Given the description of an element on the screen output the (x, y) to click on. 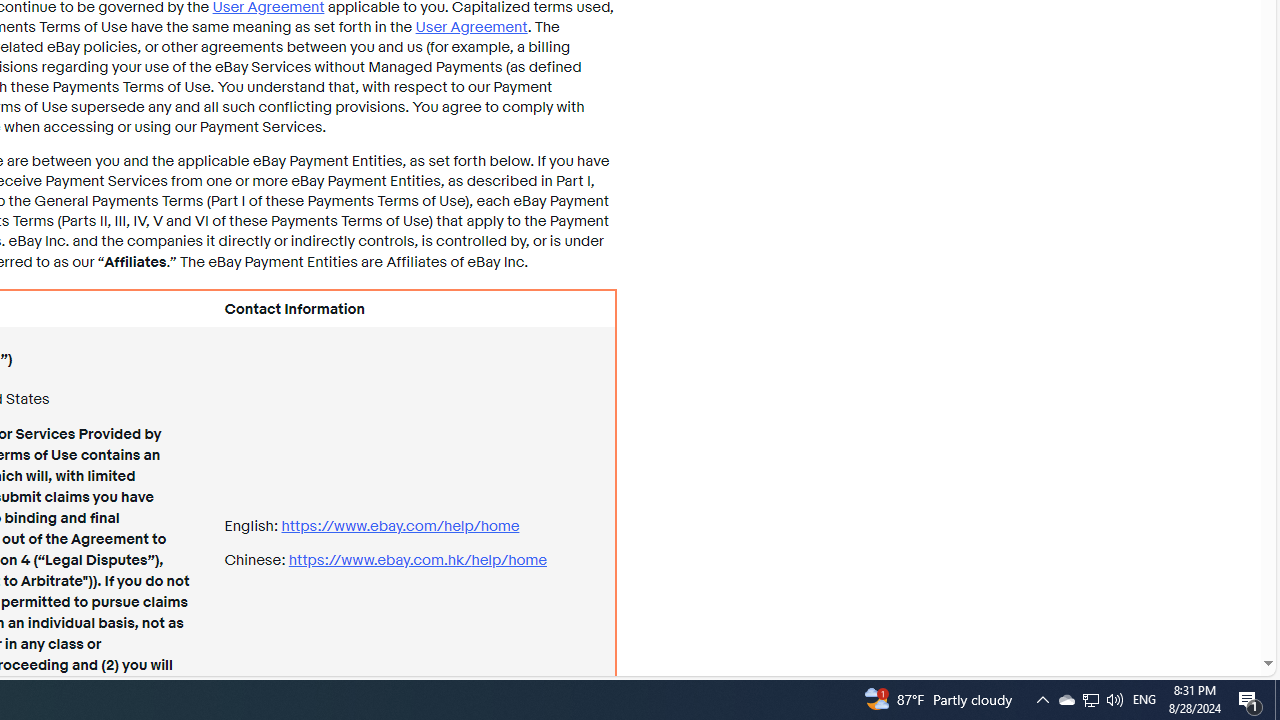
https://www.ebay.com/ help/home (400, 525)
https://www.ebay.com.hk/ help/home (417, 560)
User Agreement (470, 26)
